Given the description of an element on the screen output the (x, y) to click on. 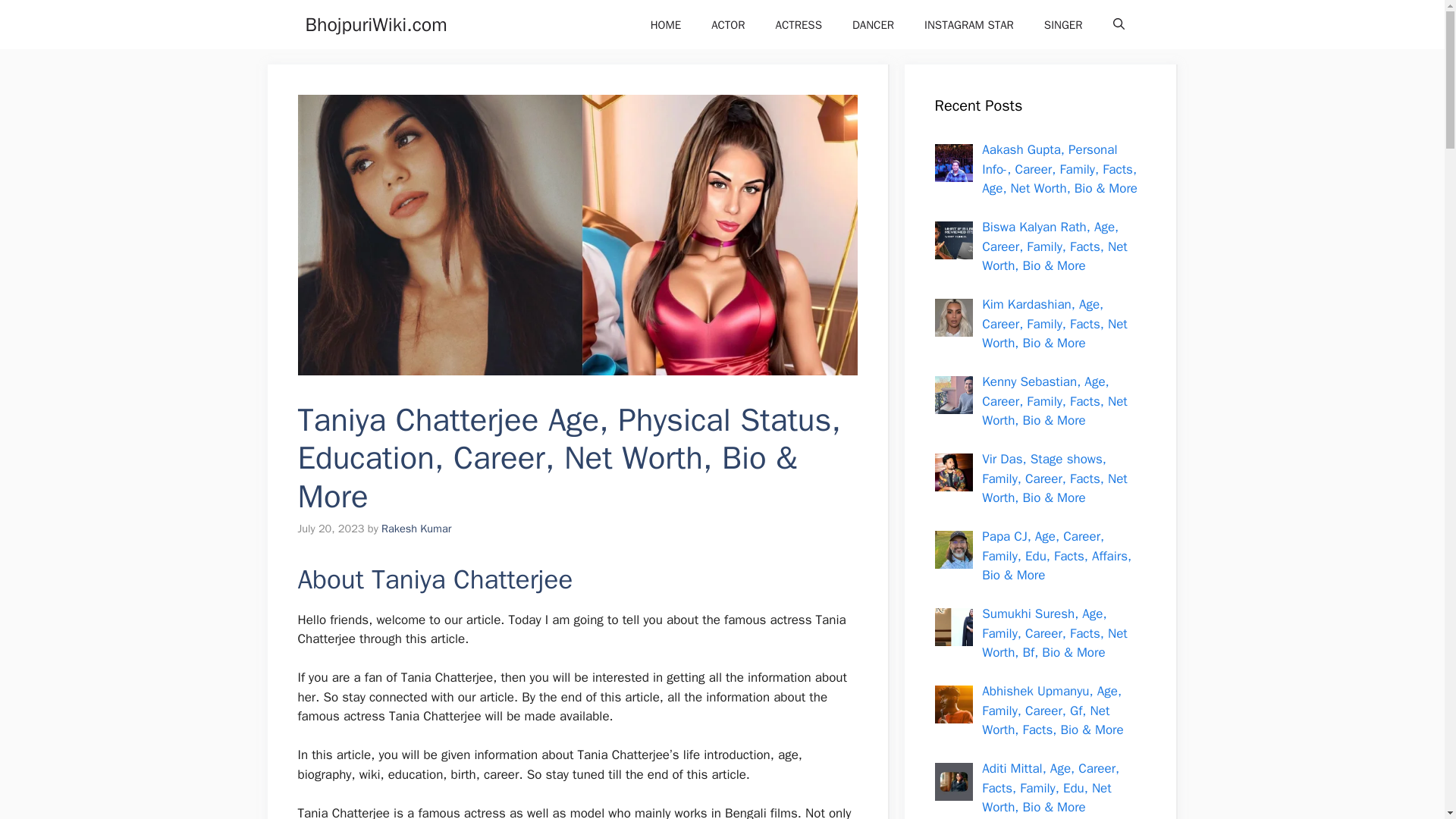
View all posts by Rakesh Kumar (416, 528)
ACTOR (727, 23)
BhojpuriWiki.com (375, 24)
Rakesh Kumar (416, 528)
ACTRESS (797, 23)
HOME (664, 23)
INSTAGRAM STAR (968, 23)
DANCER (872, 23)
SINGER (1063, 23)
